Given the description of an element on the screen output the (x, y) to click on. 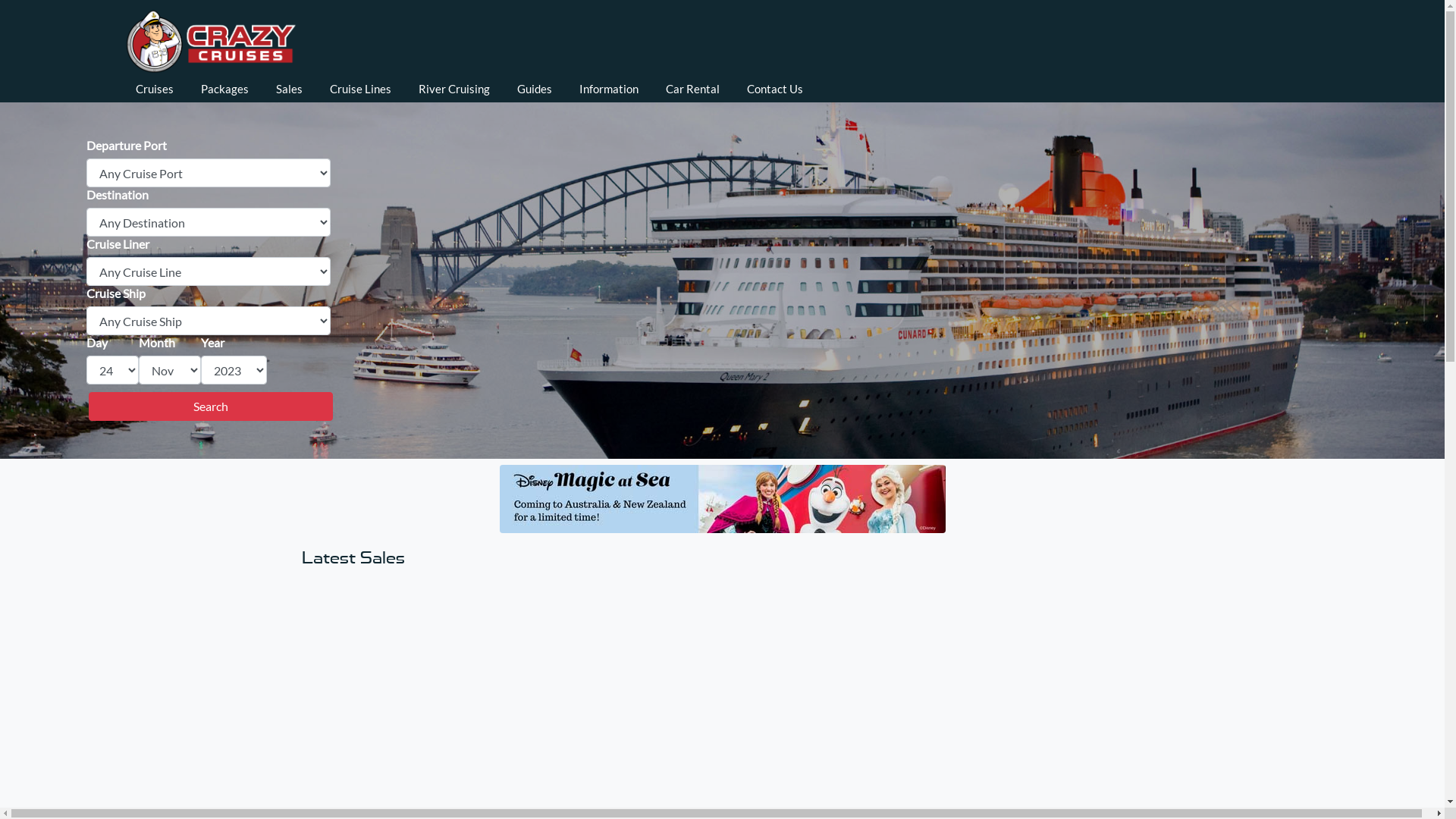
River Cruising Element type: text (453, 88)
Cruise Lines Element type: text (360, 88)
Sales Element type: text (289, 88)
Contact Us Element type: text (774, 88)
Search Element type: text (210, 406)
Cruises Element type: text (154, 88)
Packages Element type: text (224, 88)
Information Element type: text (608, 88)
Car Rental Element type: text (692, 88)
Guides Element type: text (534, 88)
Home Element type: hover (210, 35)
